Given the description of an element on the screen output the (x, y) to click on. 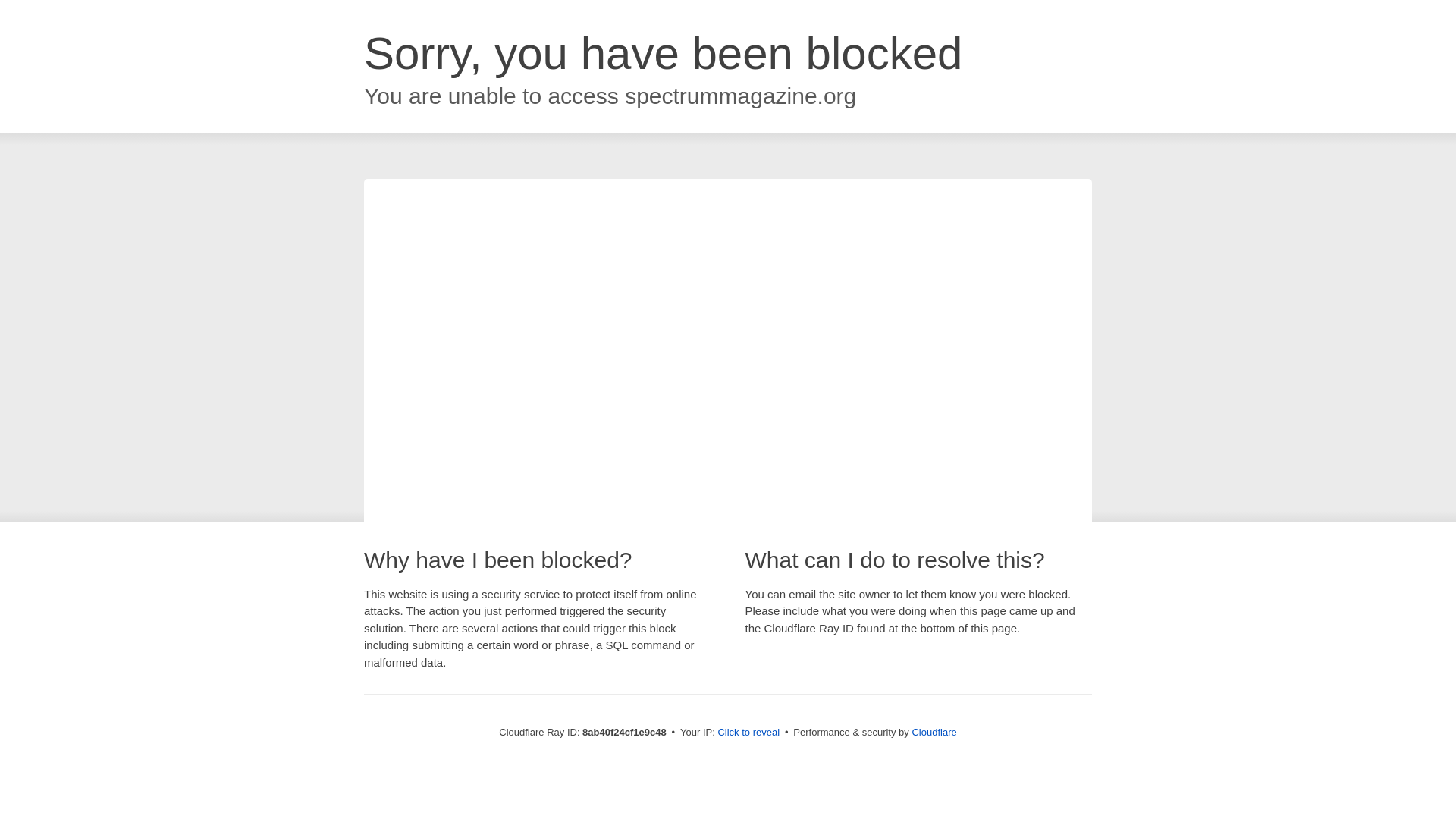
Click to reveal (747, 732)
Cloudflare (933, 731)
